Given the description of an element on the screen output the (x, y) to click on. 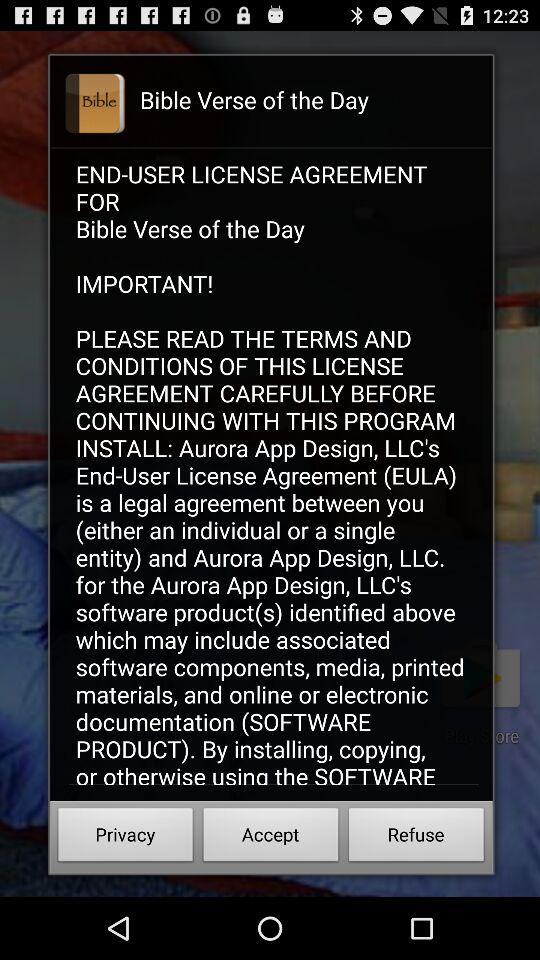
open button at the bottom (270, 837)
